Given the description of an element on the screen output the (x, y) to click on. 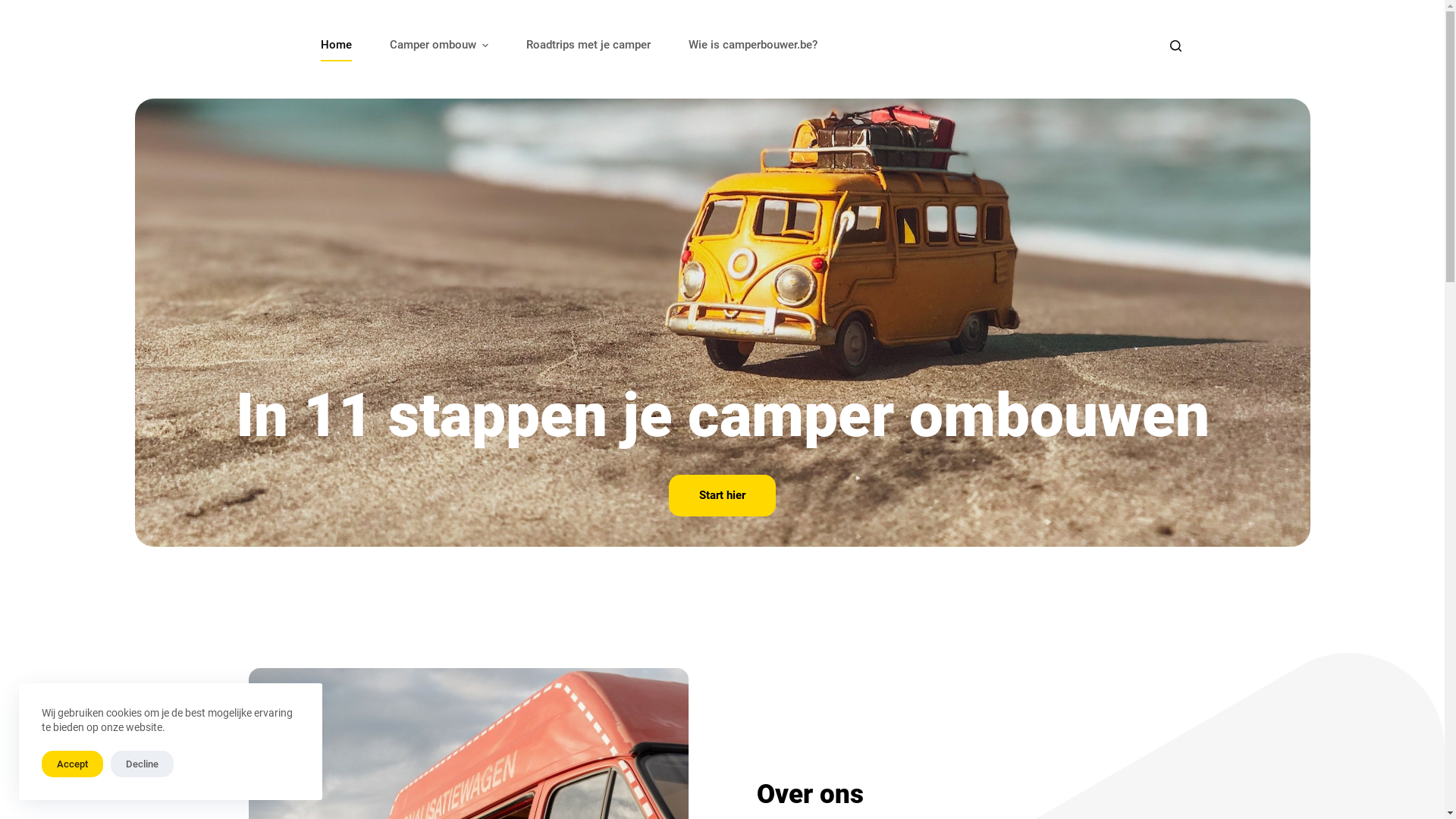
Wie is camperbouwer.be? Element type: text (751, 45)
Accept Element type: text (72, 763)
Roadtrips met je camper Element type: text (587, 45)
Camper ombouw Element type: text (438, 45)
Home Element type: text (335, 45)
Decline Element type: text (141, 763)
Start hier Element type: text (721, 495)
Skip to content Element type: text (15, 7)
